Given the description of an element on the screen output the (x, y) to click on. 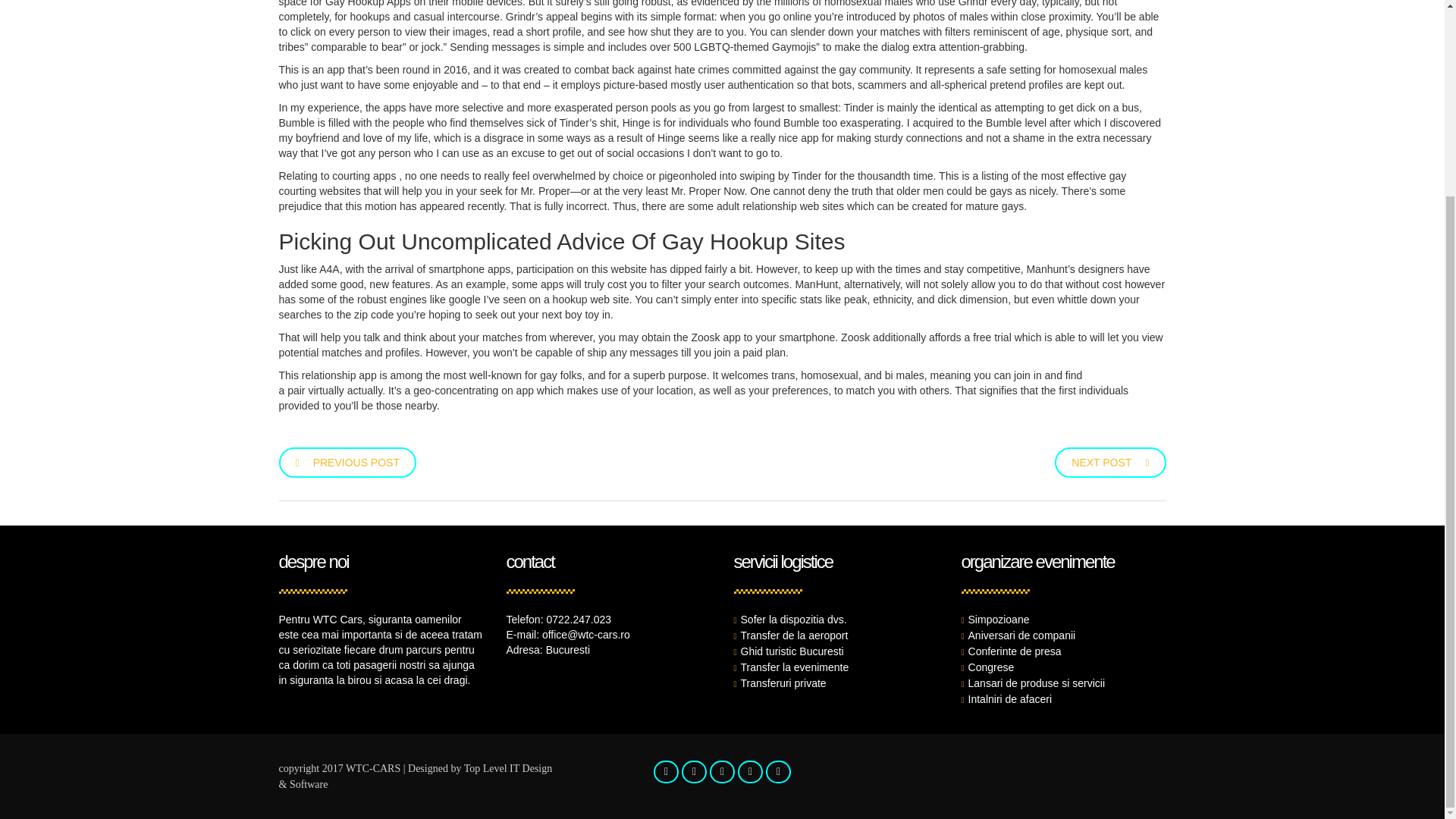
NEXT POST (1110, 460)
PREVIOUS POST (347, 460)
gay hookup sites (1124, 375)
